Given the description of an element on the screen output the (x, y) to click on. 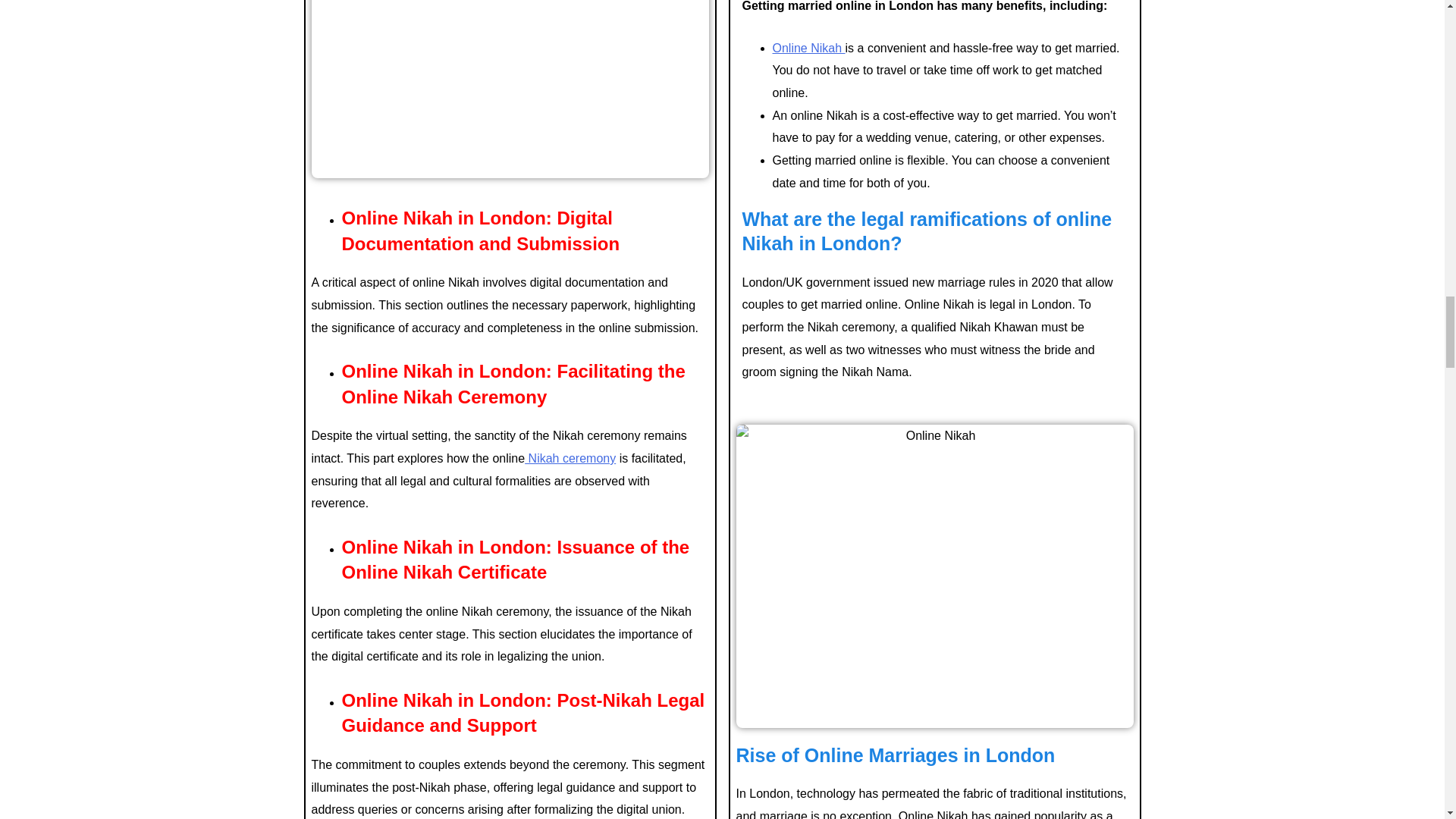
Nikah ceremony (569, 458)
